Given the description of an element on the screen output the (x, y) to click on. 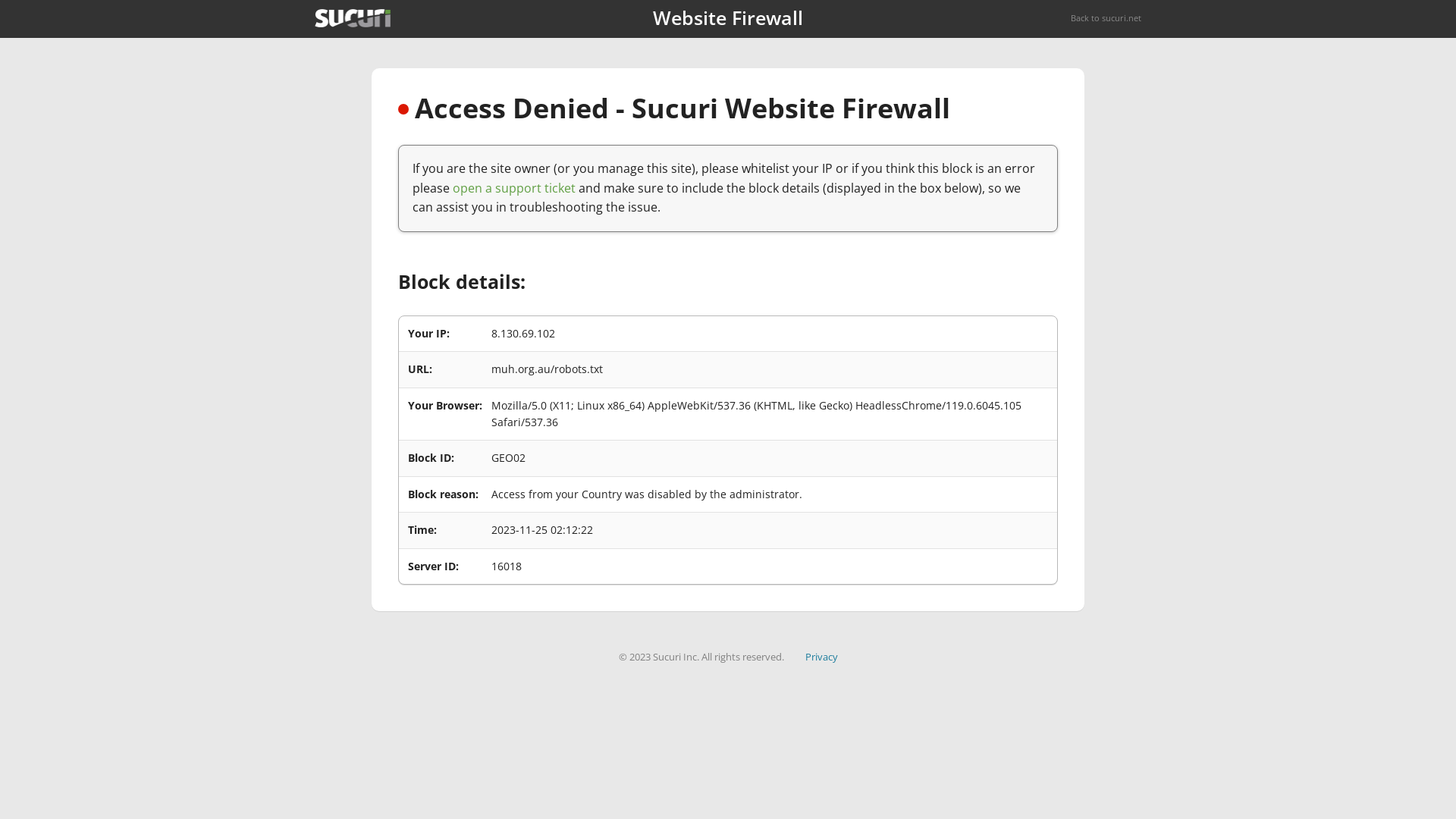
open a support ticket Element type: text (513, 187)
Back to sucuri.net Element type: text (1105, 18)
Privacy Element type: text (821, 656)
